Given the description of an element on the screen output the (x, y) to click on. 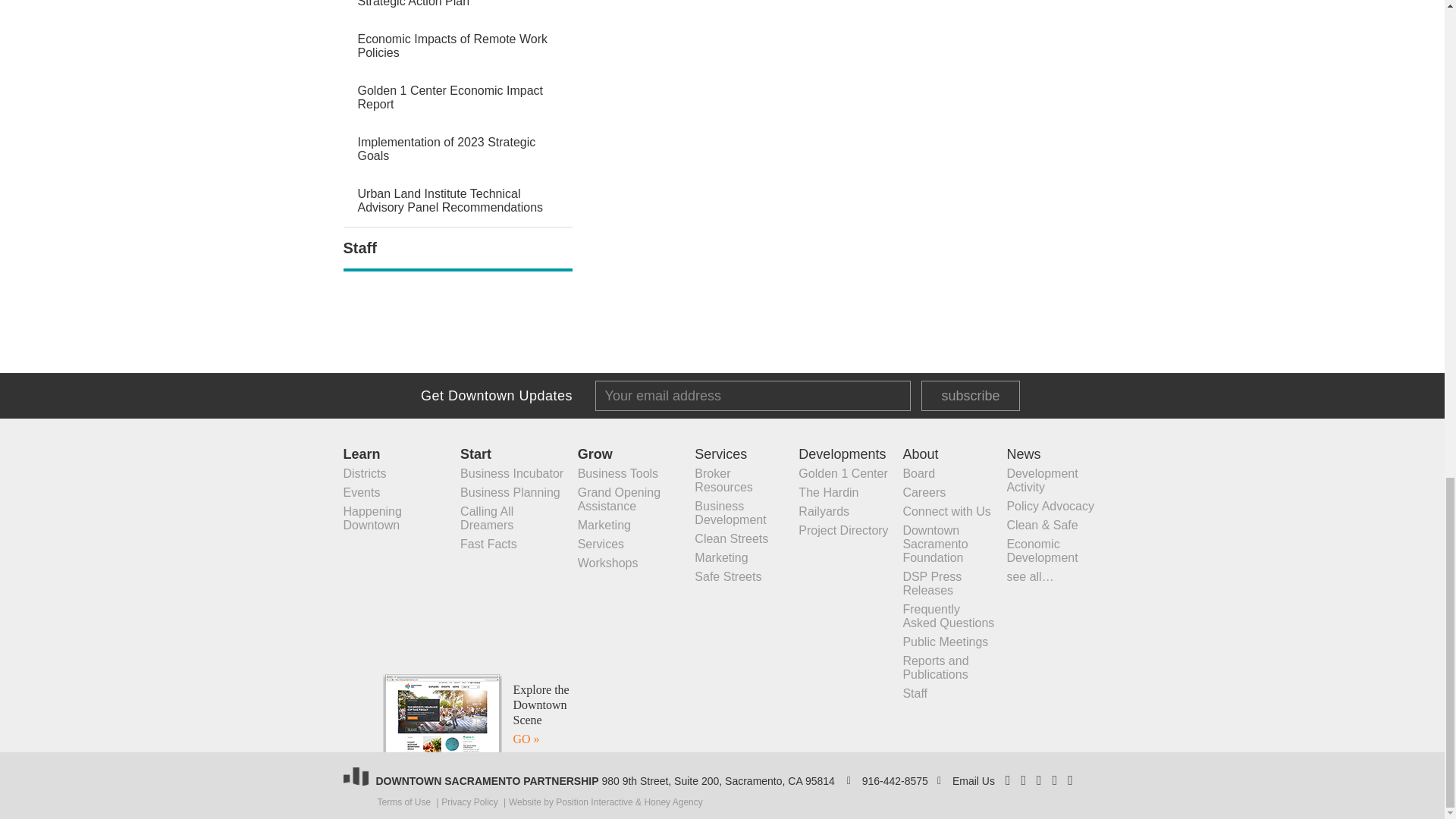
subscribe (970, 395)
